Given the description of an element on the screen output the (x, y) to click on. 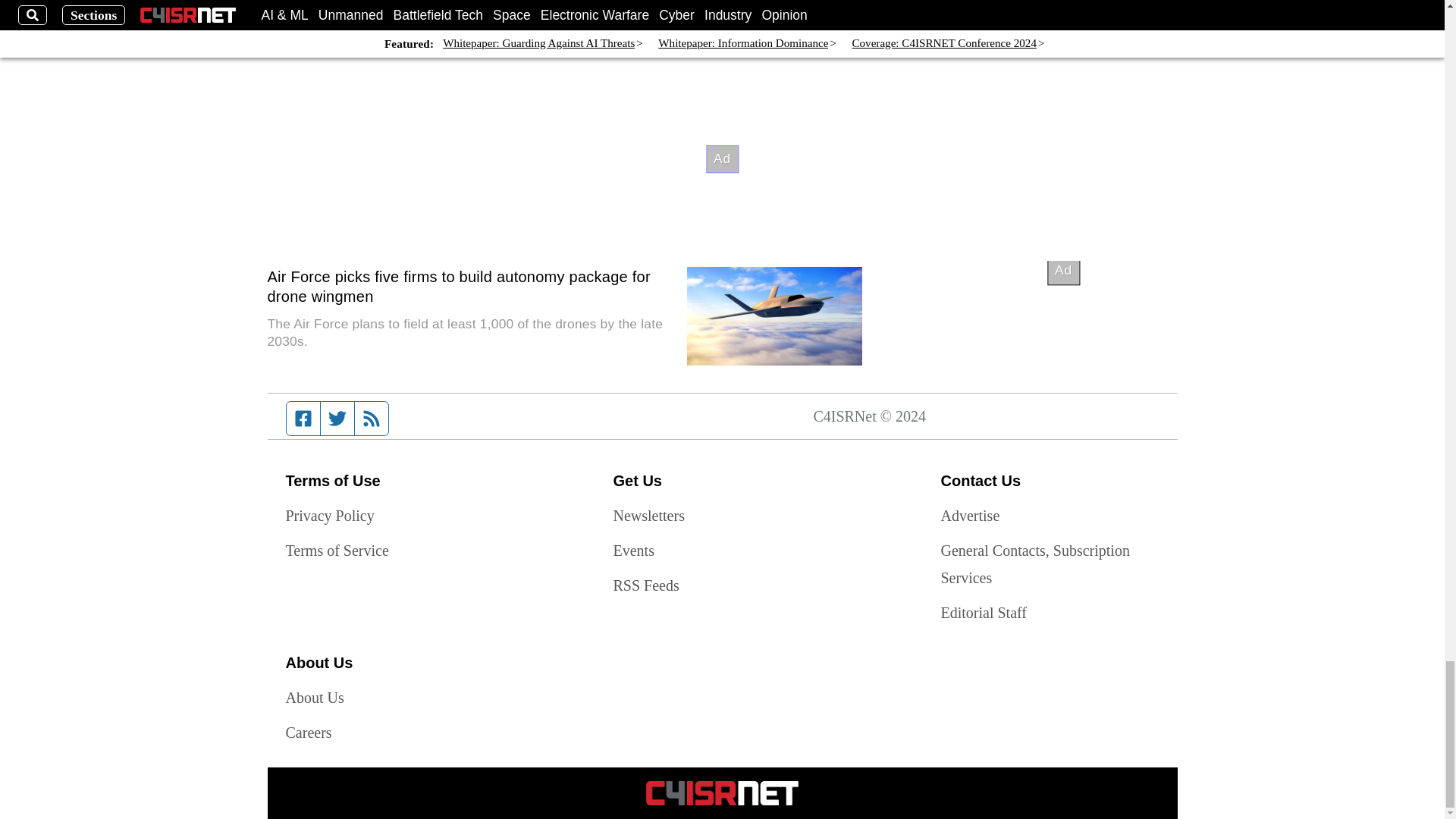
RSS feed (371, 418)
Facebook page (303, 418)
Twitter feed (336, 418)
